Given the description of an element on the screen output the (x, y) to click on. 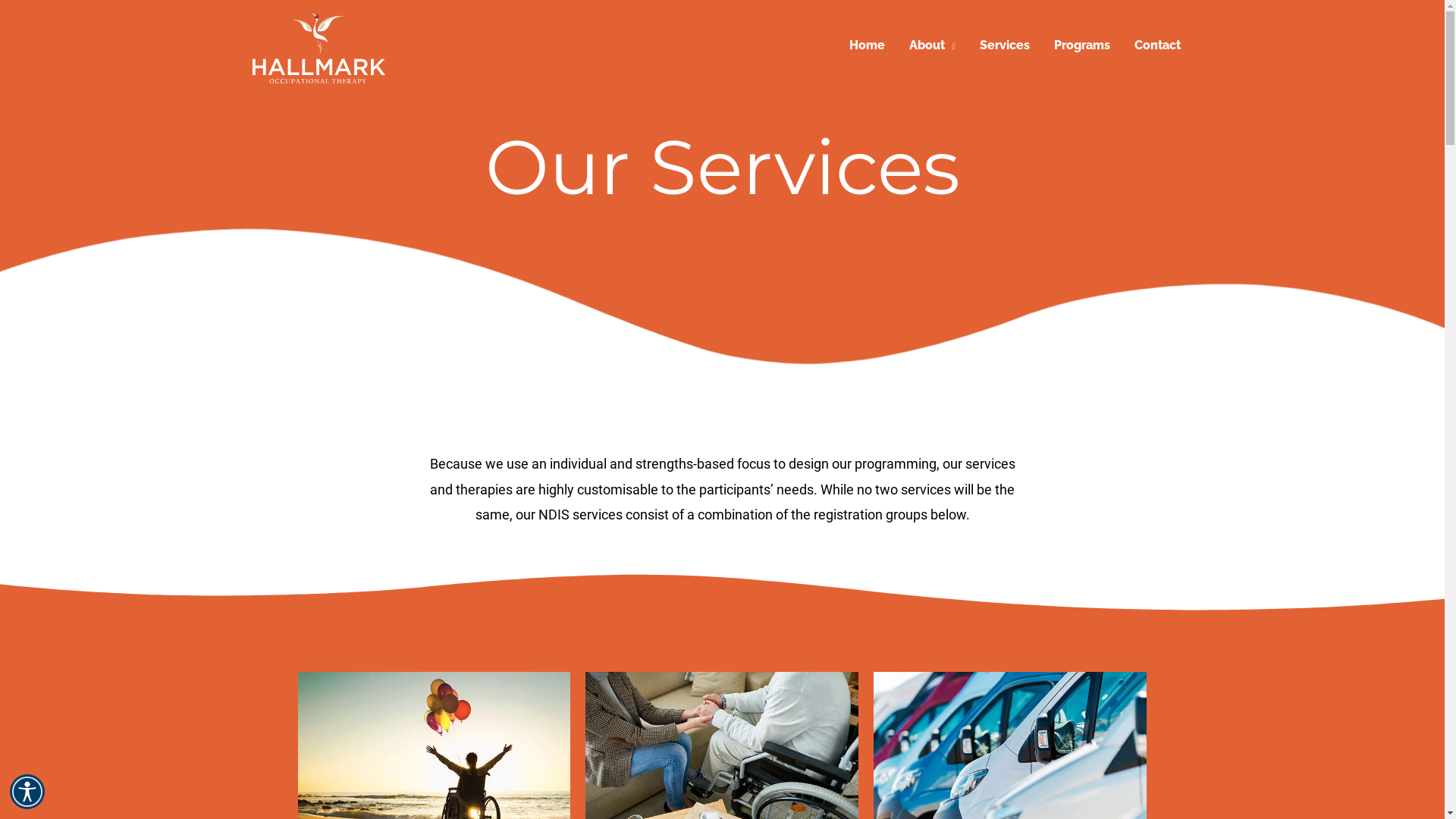
Home Element type: text (867, 45)
Programs Element type: text (1081, 45)
About Element type: text (932, 45)
Contact Element type: text (1157, 45)
Services Element type: text (1004, 45)
